Given the description of an element on the screen output the (x, y) to click on. 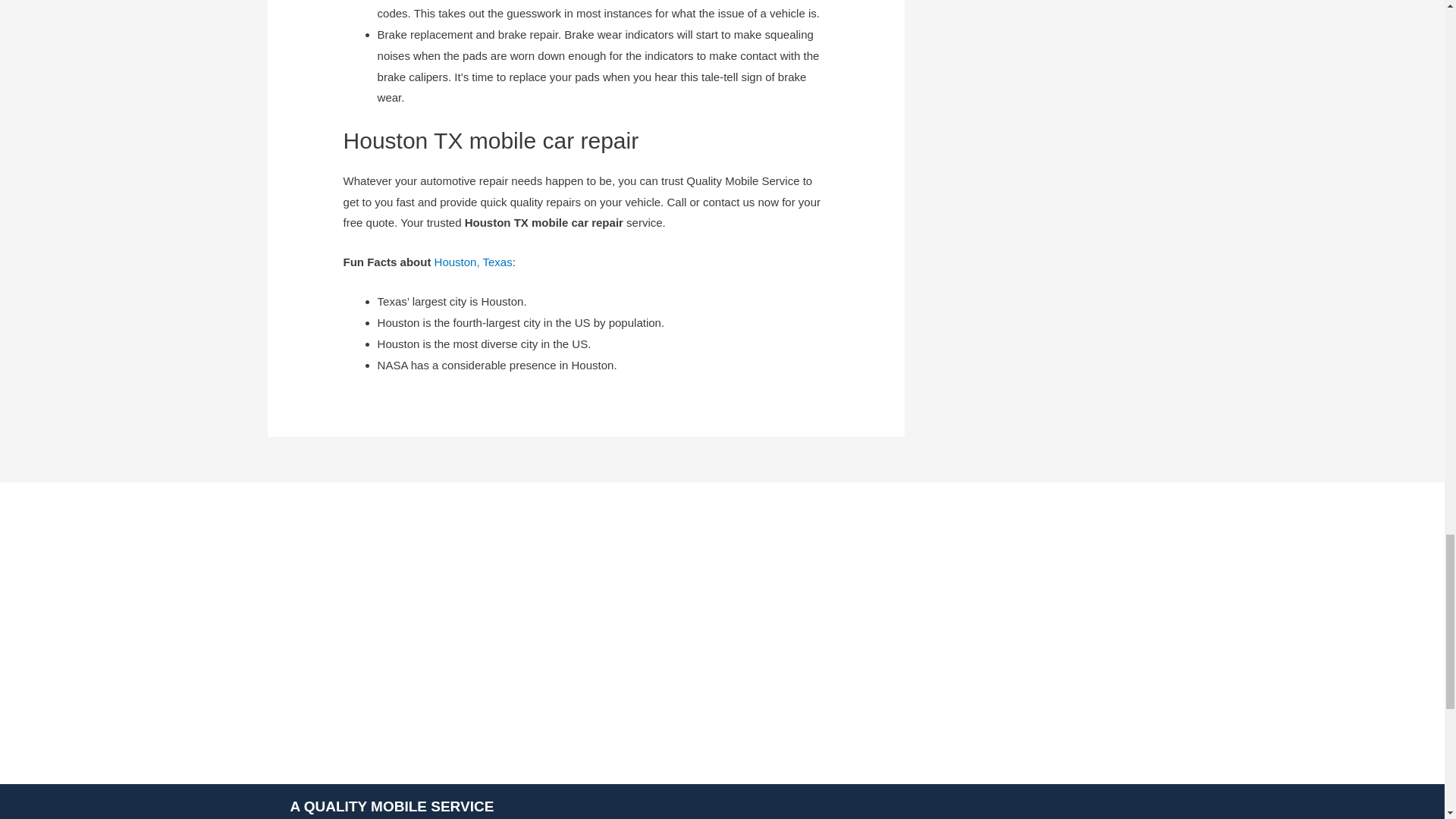
Houston, Texas (472, 261)
